Given the description of an element on the screen output the (x, y) to click on. 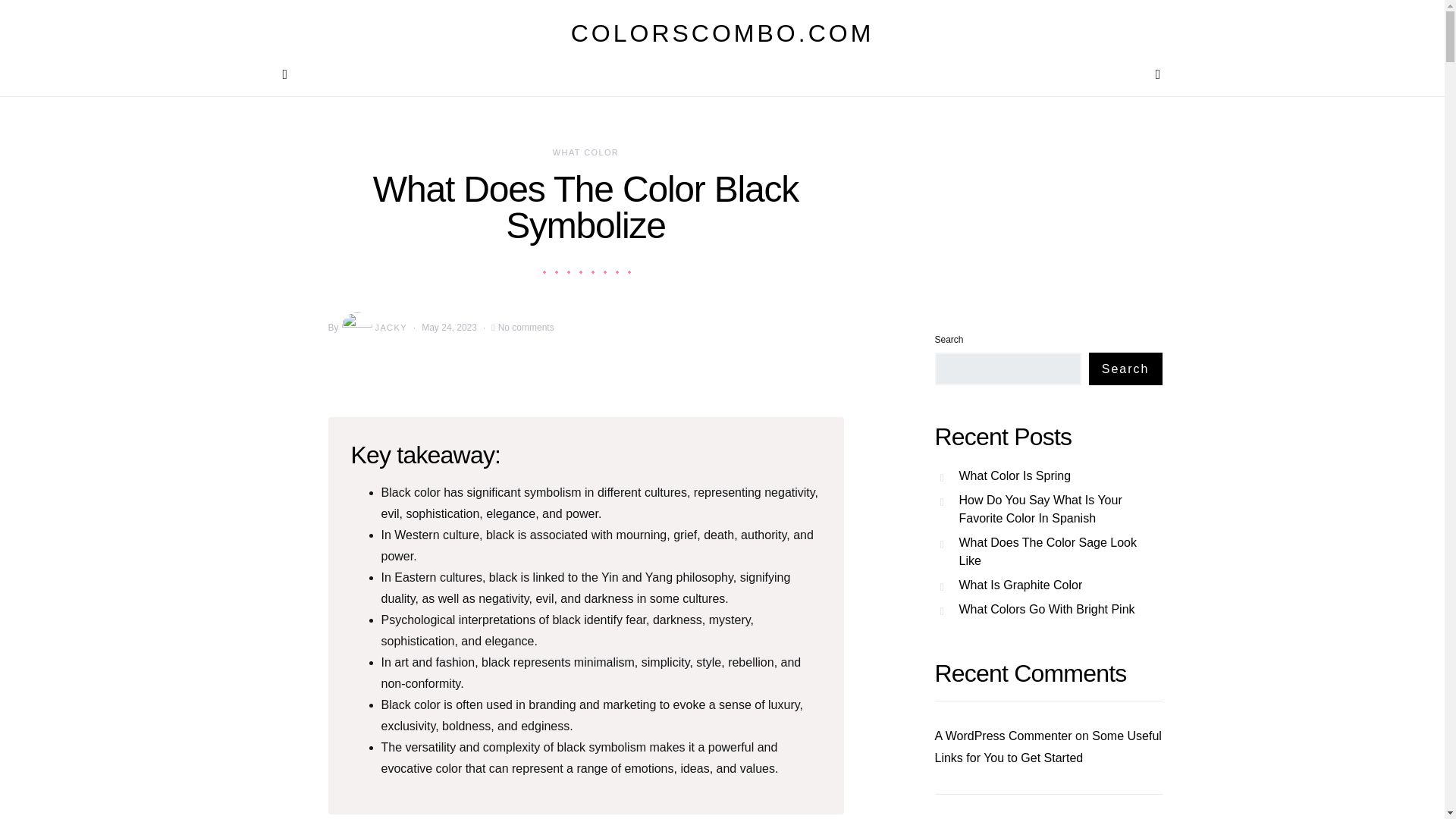
JACKY (373, 327)
View all posts by Jacky (373, 327)
WHAT COLOR (585, 152)
COLORSCOMBO.COM (722, 33)
No comments (525, 327)
